Given the description of an element on the screen output the (x, y) to click on. 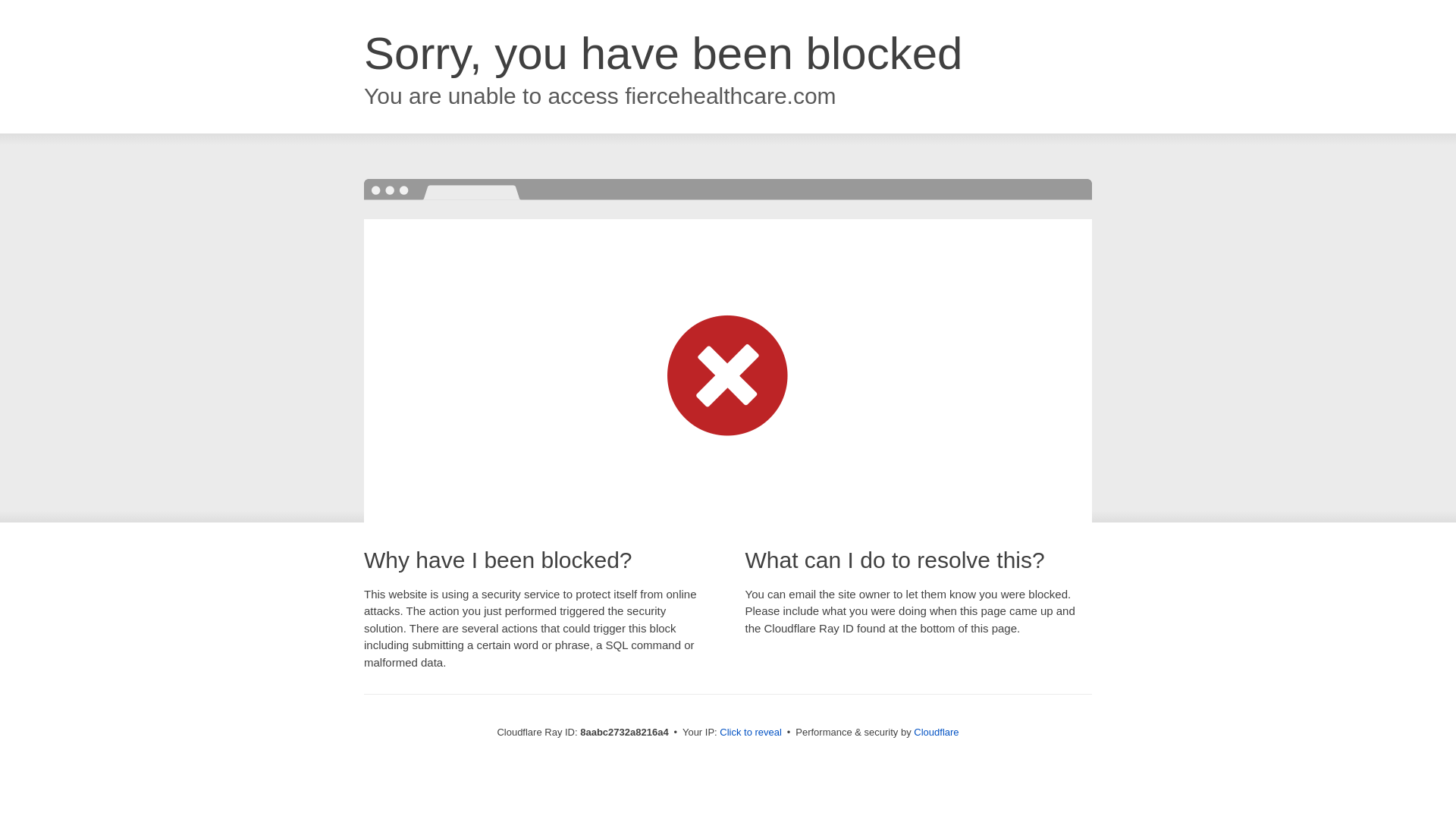
Click to reveal (750, 732)
Cloudflare (936, 731)
